Given the description of an element on the screen output the (x, y) to click on. 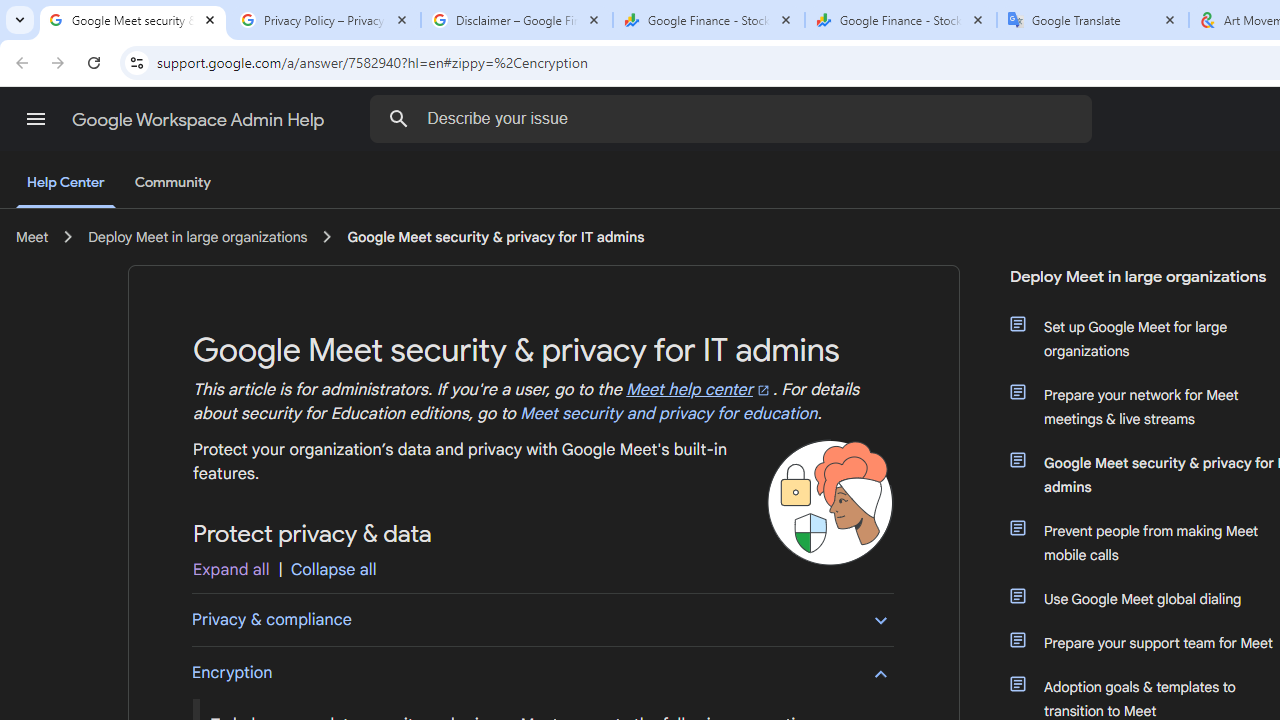
Google Workspace Admin Help (199, 119)
Describe your issue (735, 118)
Meet security and privacy for education (668, 413)
Google Meet security & privacy for IT admins (495, 237)
Meet  (31, 237)
Search Help Center (399, 118)
Encryption (542, 672)
